Given the description of an element on the screen output the (x, y) to click on. 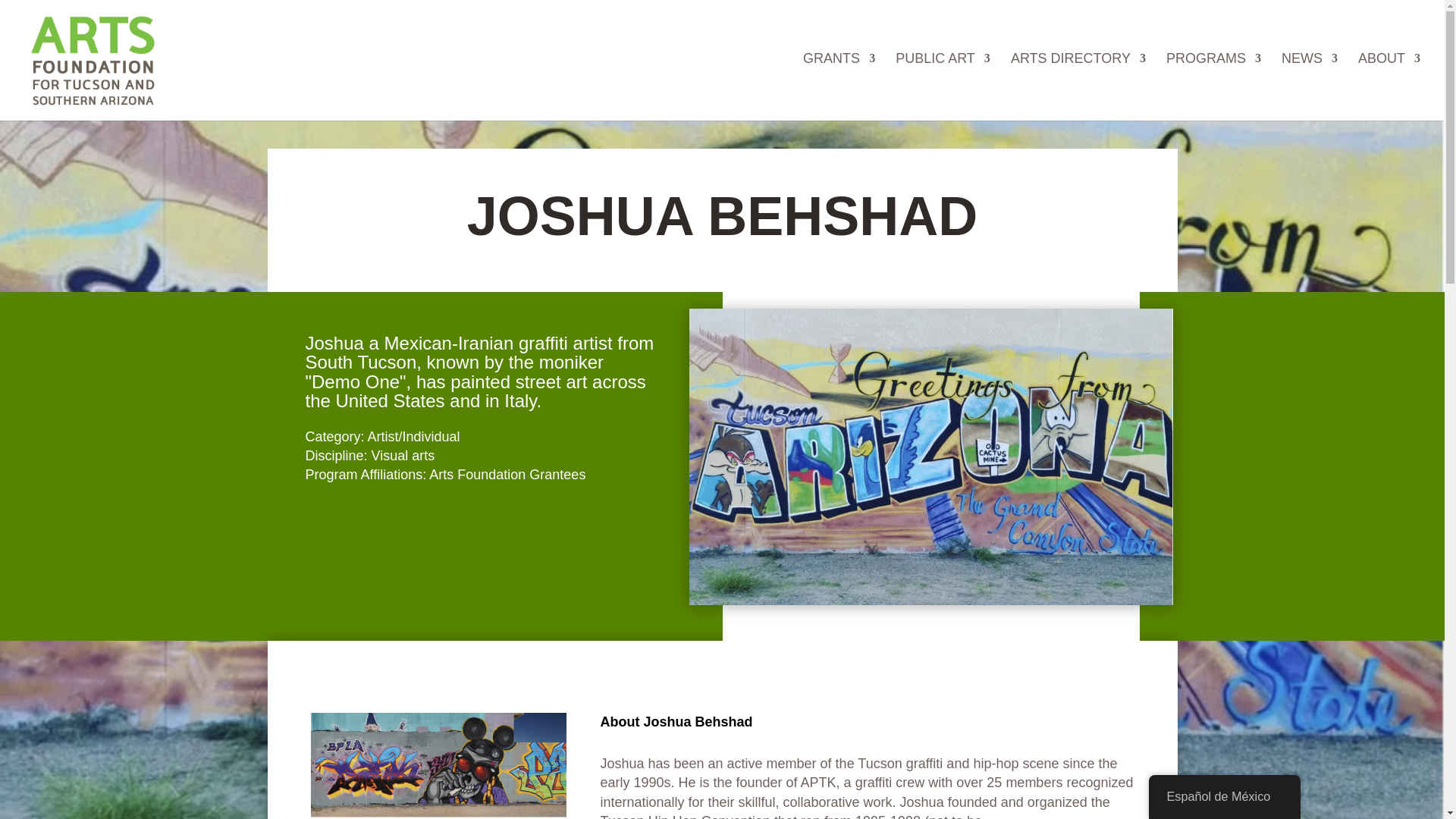
ARTS DIRECTORY (1077, 80)
PUBLIC ART (942, 80)
GRANTS (839, 80)
ABOUT (1389, 80)
NEWS (1309, 80)
PROGRAMS (1213, 80)
